Given the description of an element on the screen output the (x, y) to click on. 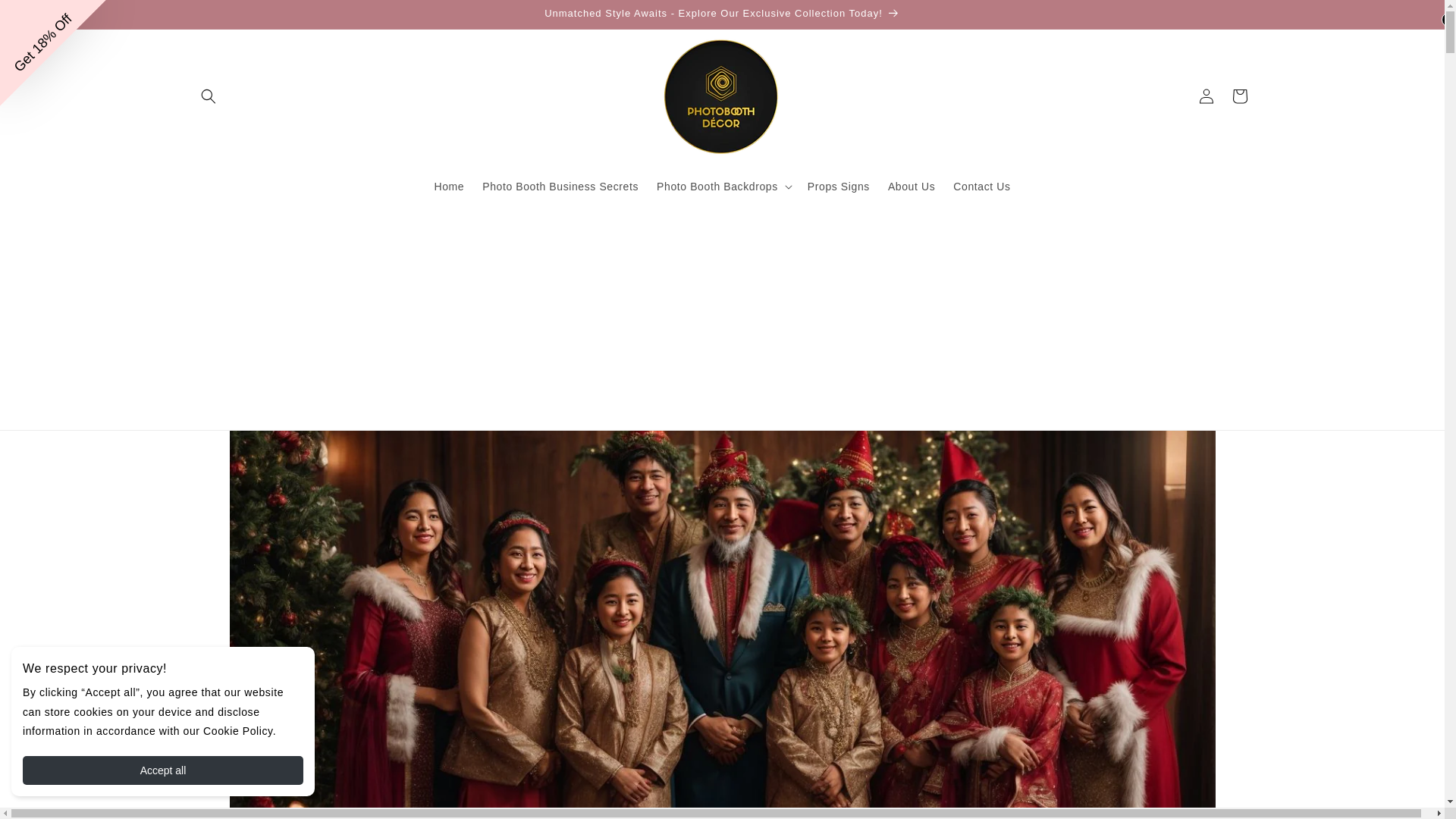
Skip to content (45, 16)
Accept all (162, 769)
